Given the description of an element on the screen output the (x, y) to click on. 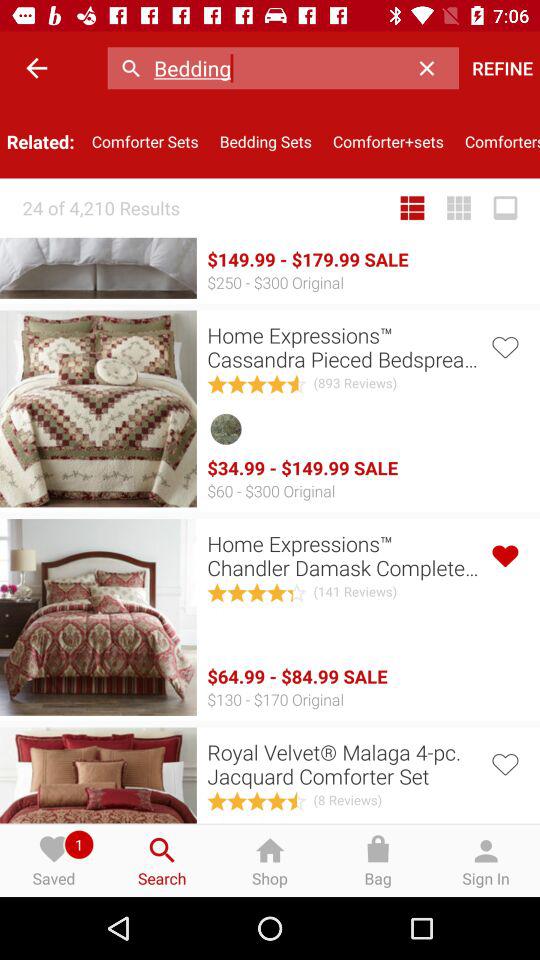
toggle like option (504, 345)
